Given the description of an element on the screen output the (x, y) to click on. 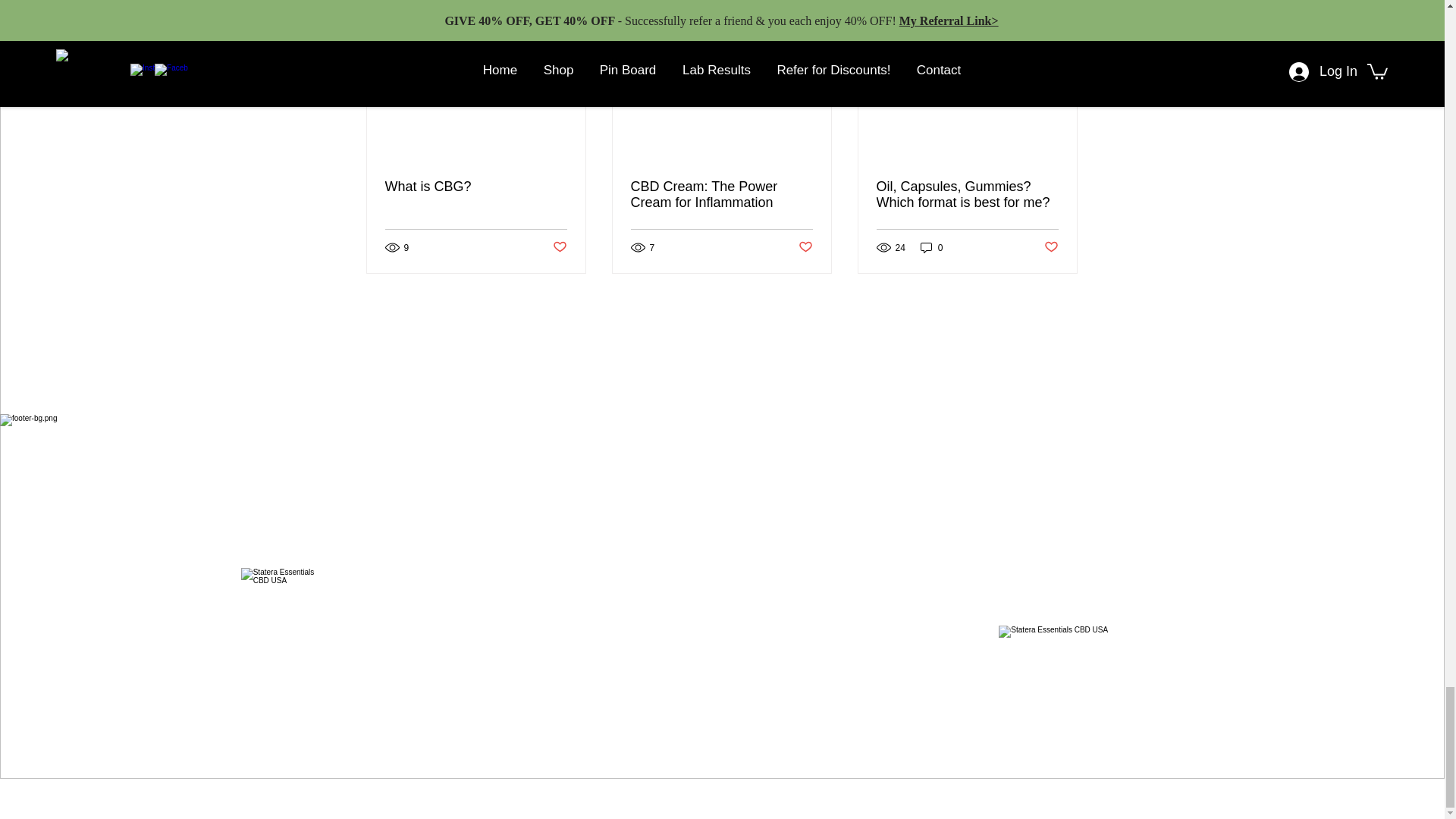
What is CBG? (476, 186)
See All (1061, 11)
Post not marked as liked (1050, 247)
0 (931, 247)
Post not marked as liked (804, 247)
CBD Cream: The Power Cream for Inflammation (721, 194)
Oil, Capsules, Gummies? Which format is best for me? (967, 194)
Post not marked as liked (558, 247)
